Given the description of an element on the screen output the (x, y) to click on. 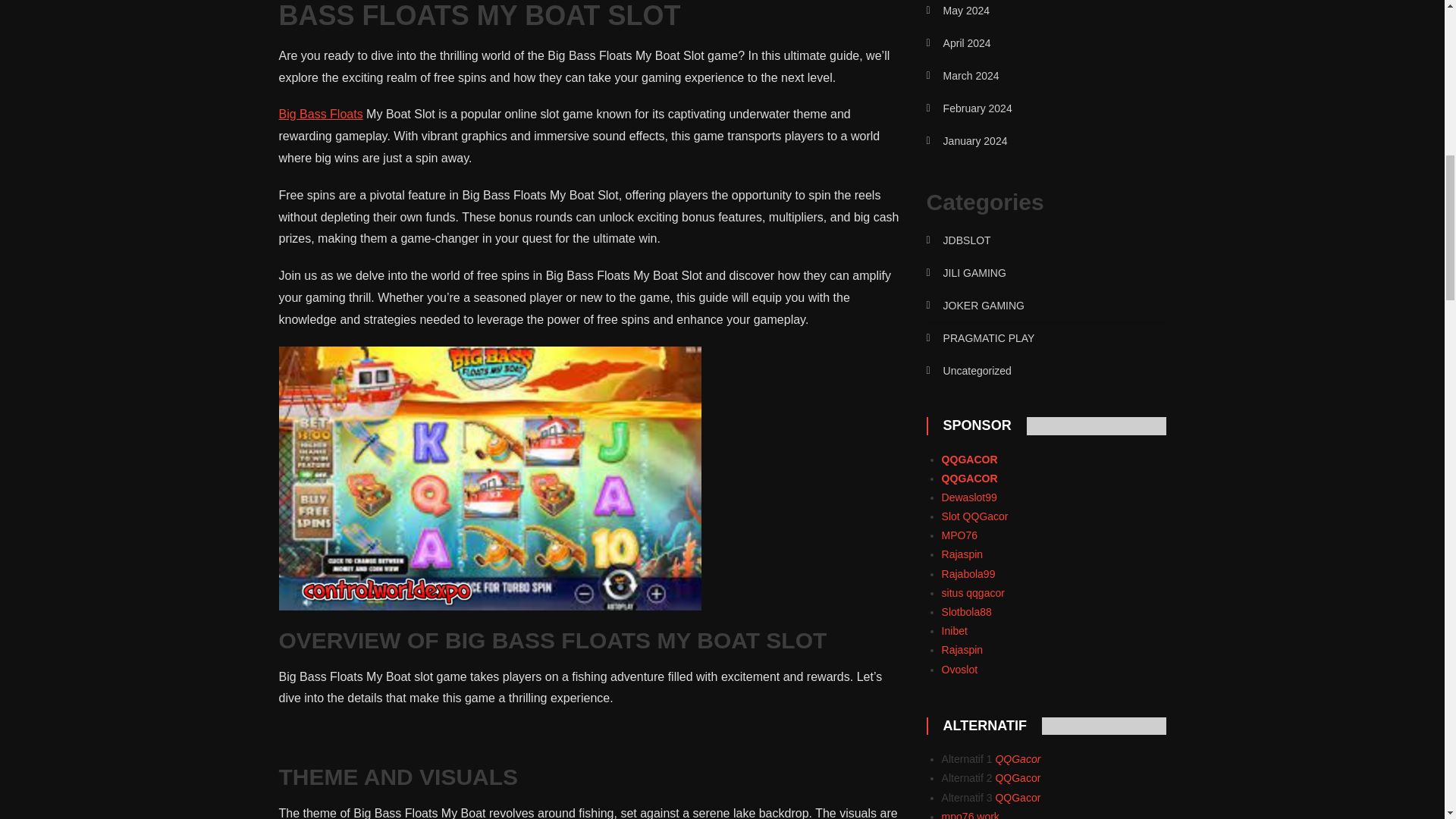
Big Bass Floats (320, 113)
